Given the description of an element on the screen output the (x, y) to click on. 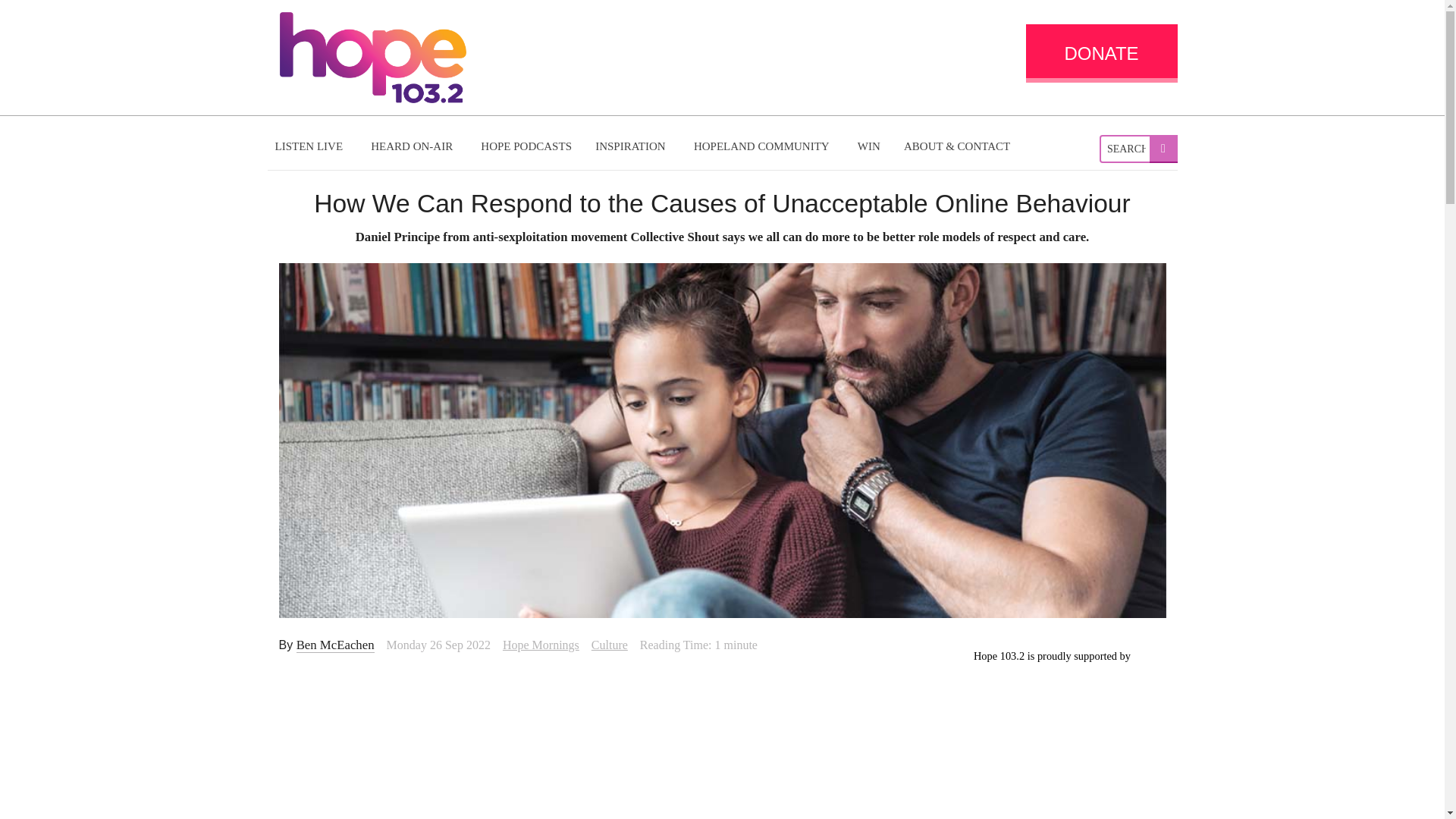
HOPE PODCASTS (526, 146)
INSPIRATION (633, 146)
3rd party ad content (1051, 742)
DONATE (1100, 53)
HEARD ON-AIR (413, 146)
LISTEN LIVE (310, 146)
HOPELAND COMMUNITY (763, 146)
